Given the description of an element on the screen output the (x, y) to click on. 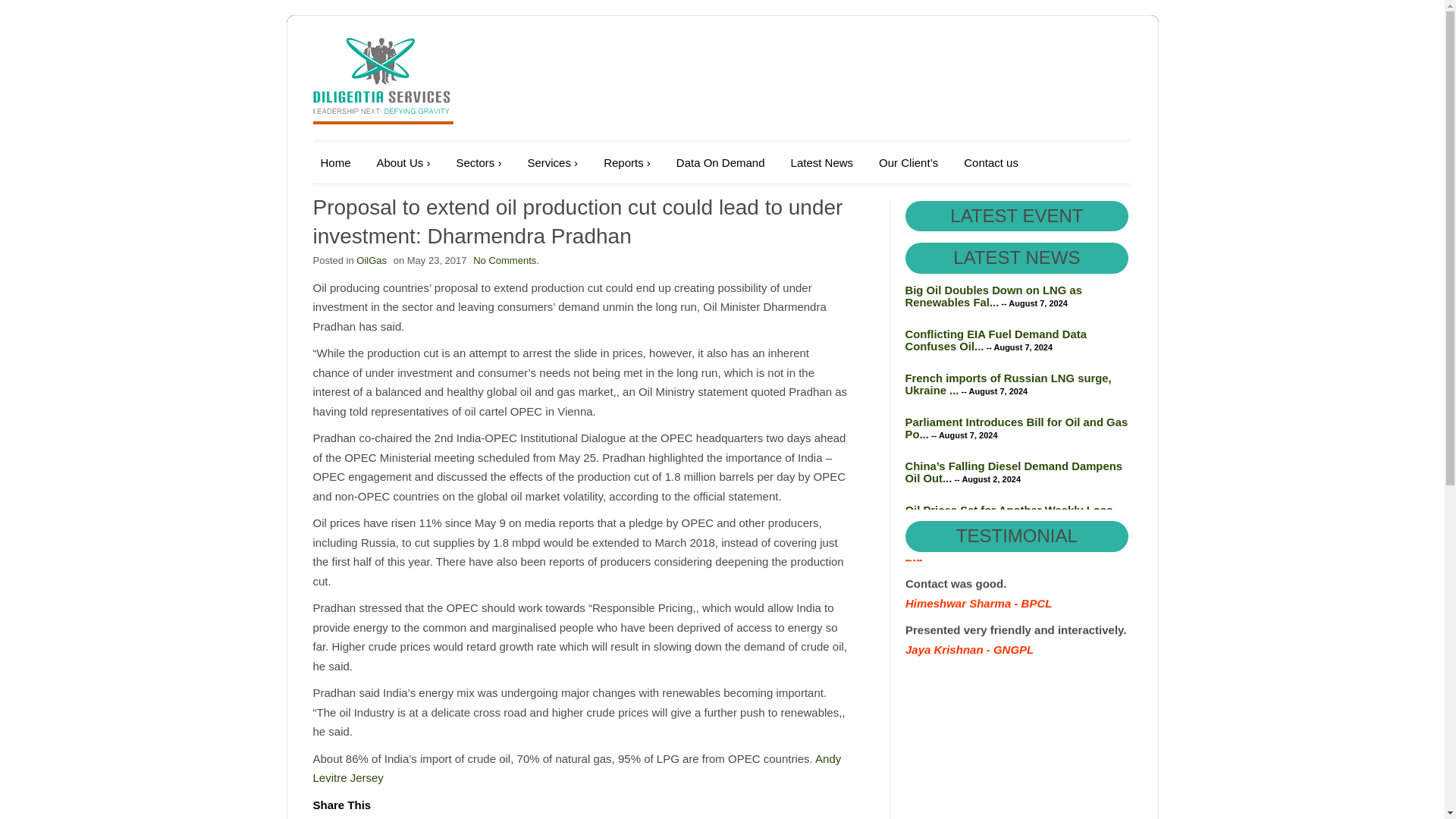
Contact us (991, 162)
OilGas (371, 260)
No Comments. (505, 260)
Home (335, 162)
Latest News (822, 162)
Andy Levitre Jersey (577, 768)
Data On Demand (720, 162)
